Given the description of an element on the screen output the (x, y) to click on. 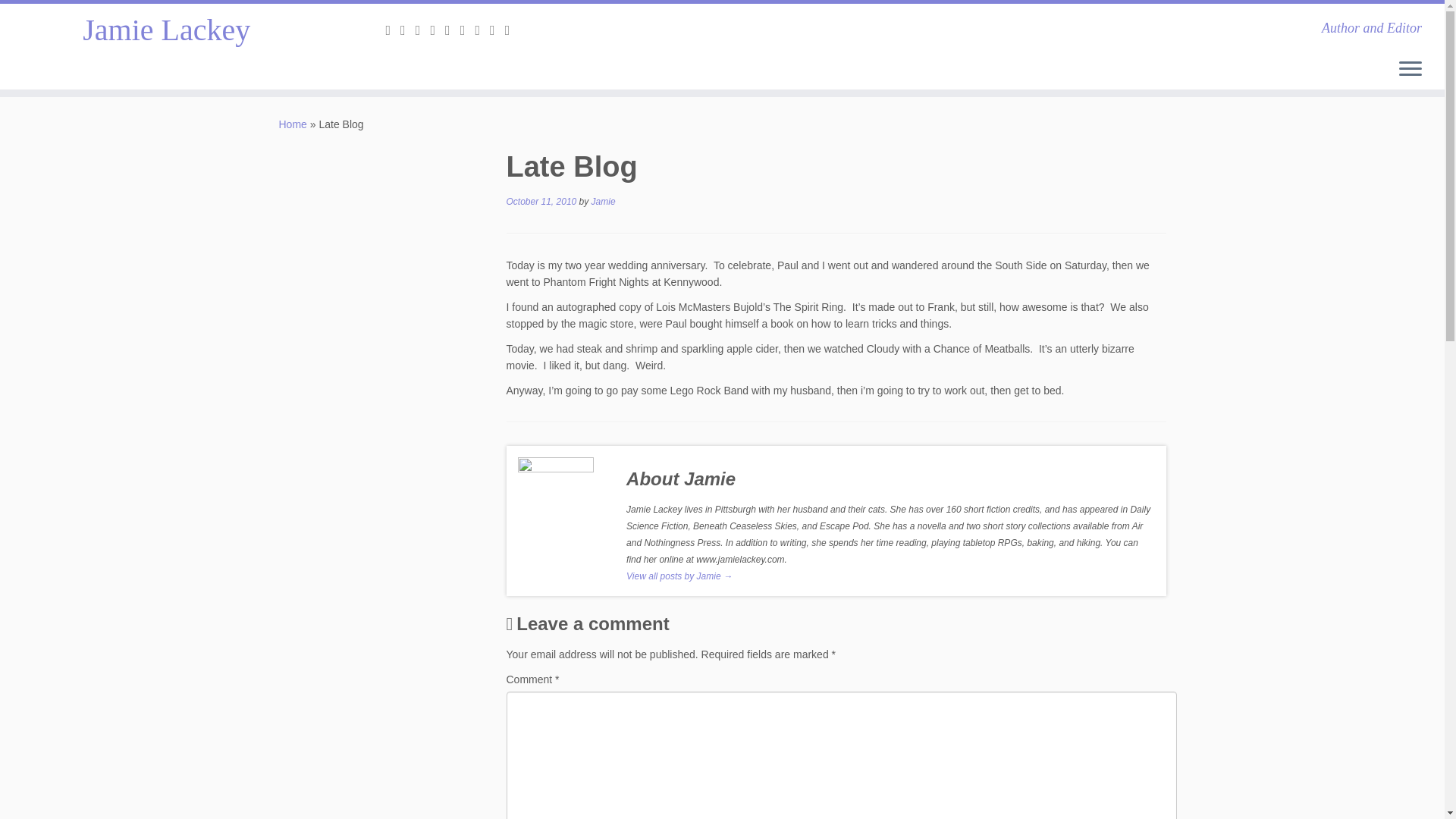
Jamie Lackey (293, 123)
Jamie Lackey (166, 30)
8:36 pm (541, 201)
Follow me on Facebook (437, 29)
Home (293, 123)
Follow me on Youtube (468, 29)
Follow us on Amazon (481, 29)
Follow me on Twitter (422, 29)
Open the menu (1410, 69)
Follow us on Tiktok (512, 29)
Subscribe to my rss feed (392, 29)
Follow us on Twitter-square (407, 29)
Jamie (603, 201)
Follow us on Instagram (497, 29)
View all posts by Jamie (603, 201)
